Given the description of an element on the screen output the (x, y) to click on. 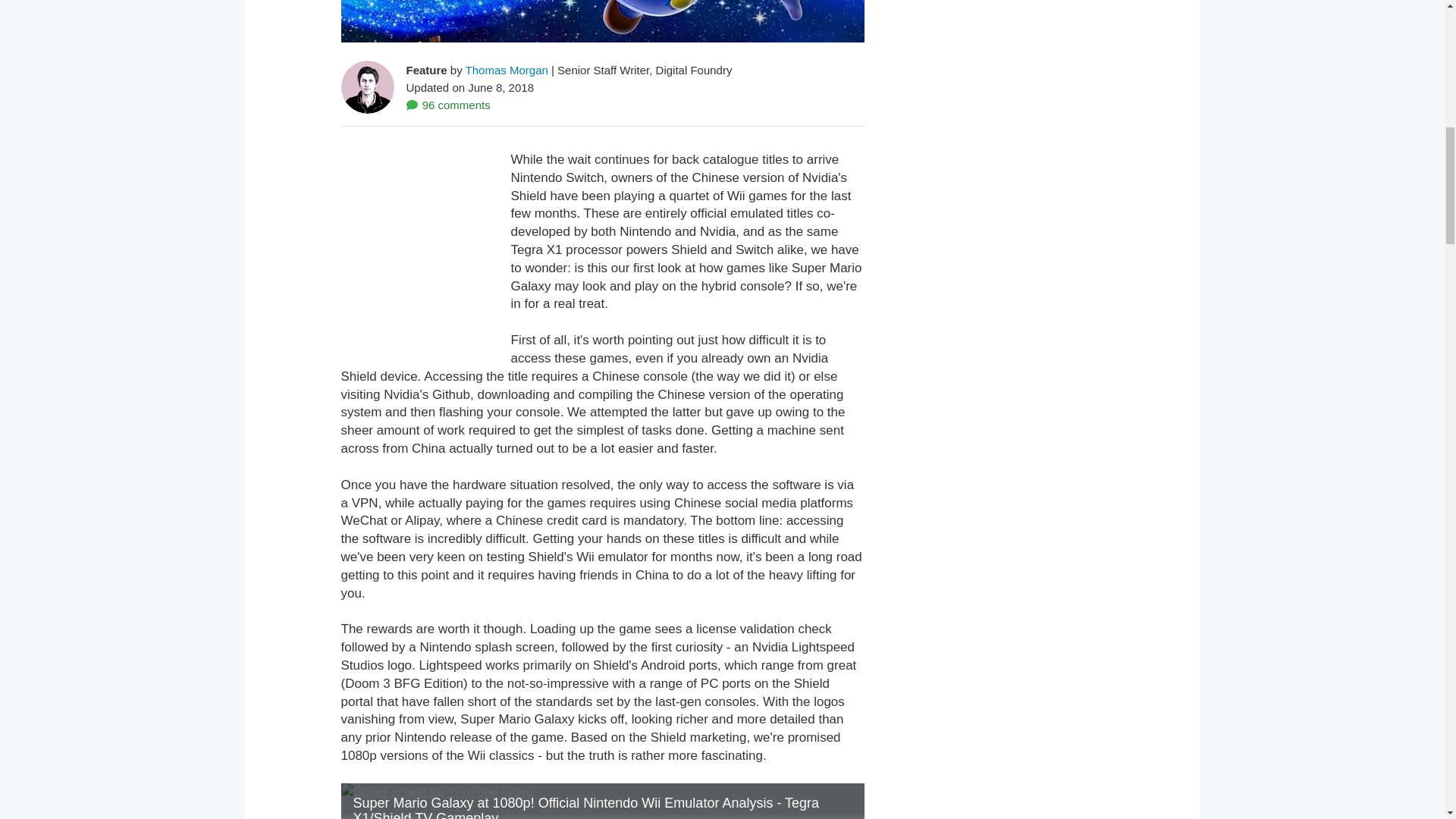
Click to play video from YouTube (602, 800)
96 comments (448, 104)
Thomas Morgan (506, 69)
